Given the description of an element on the screen output the (x, y) to click on. 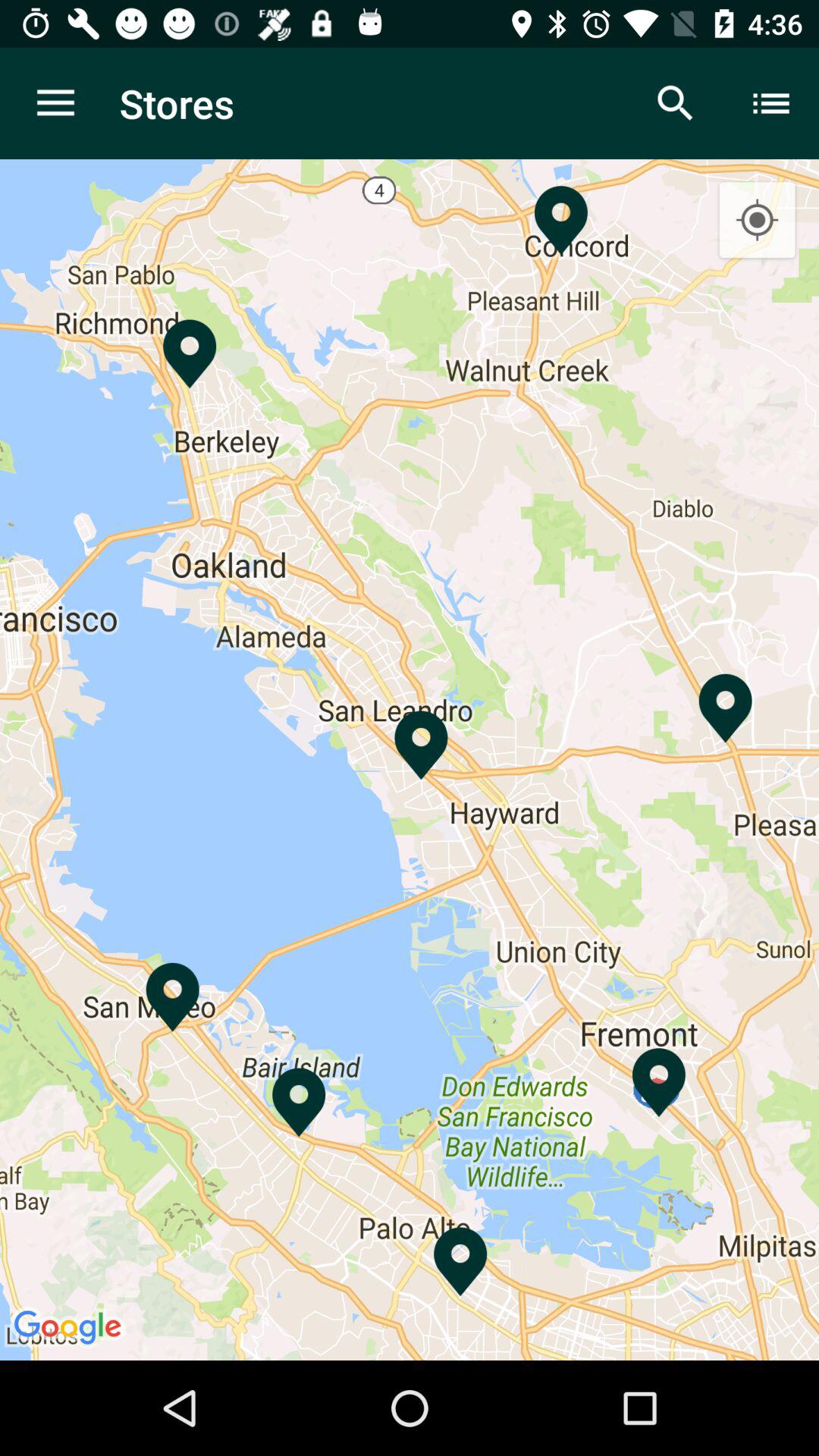
click the item at the center (409, 759)
